Given the description of an element on the screen output the (x, y) to click on. 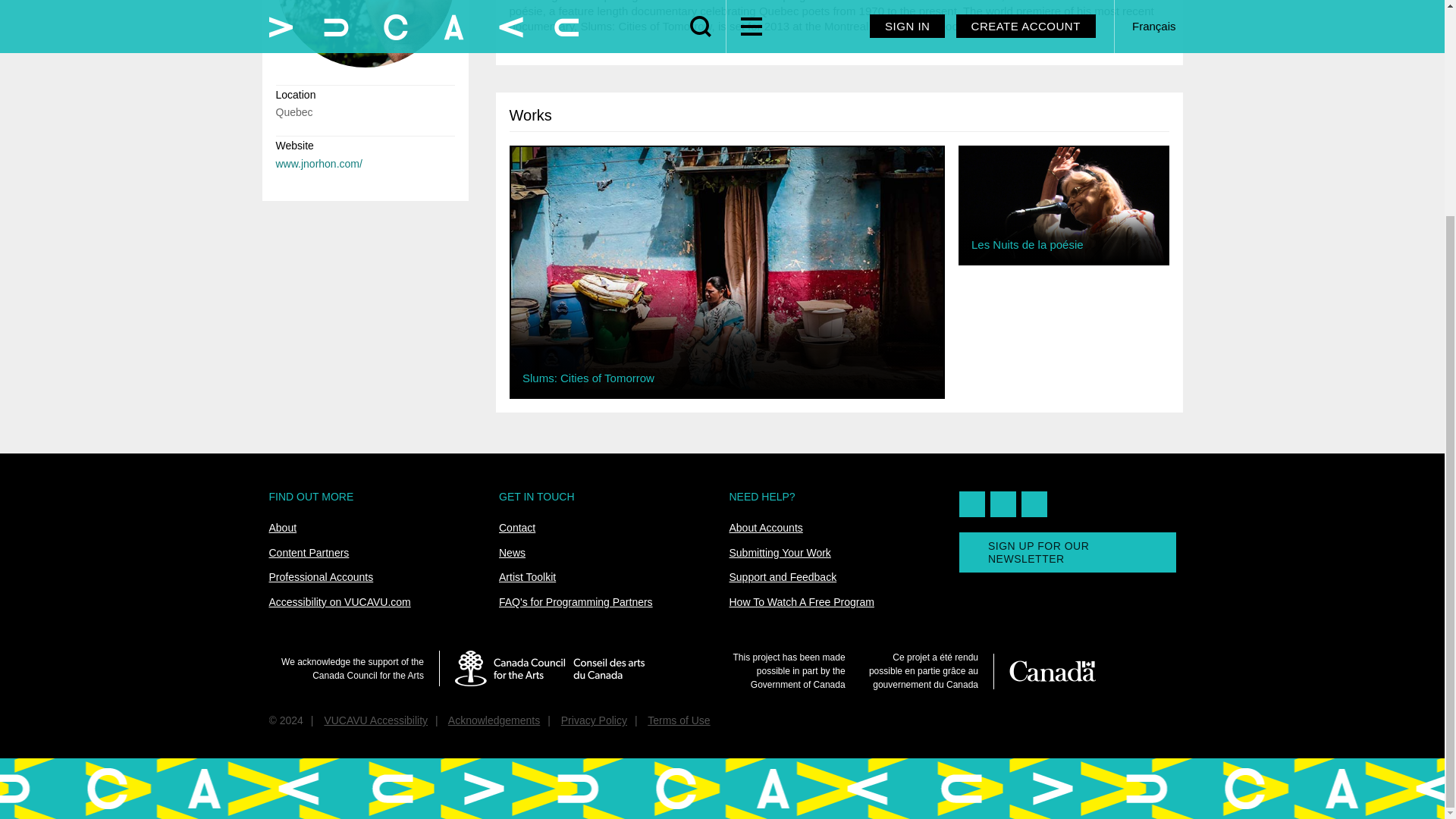
Slums: Cities of Tomorrow (727, 267)
Contact (517, 527)
Accessibility on VUCAVU.com (338, 602)
About (282, 527)
Content Partners (308, 552)
Professional Accounts (319, 576)
